Given the description of an element on the screen output the (x, y) to click on. 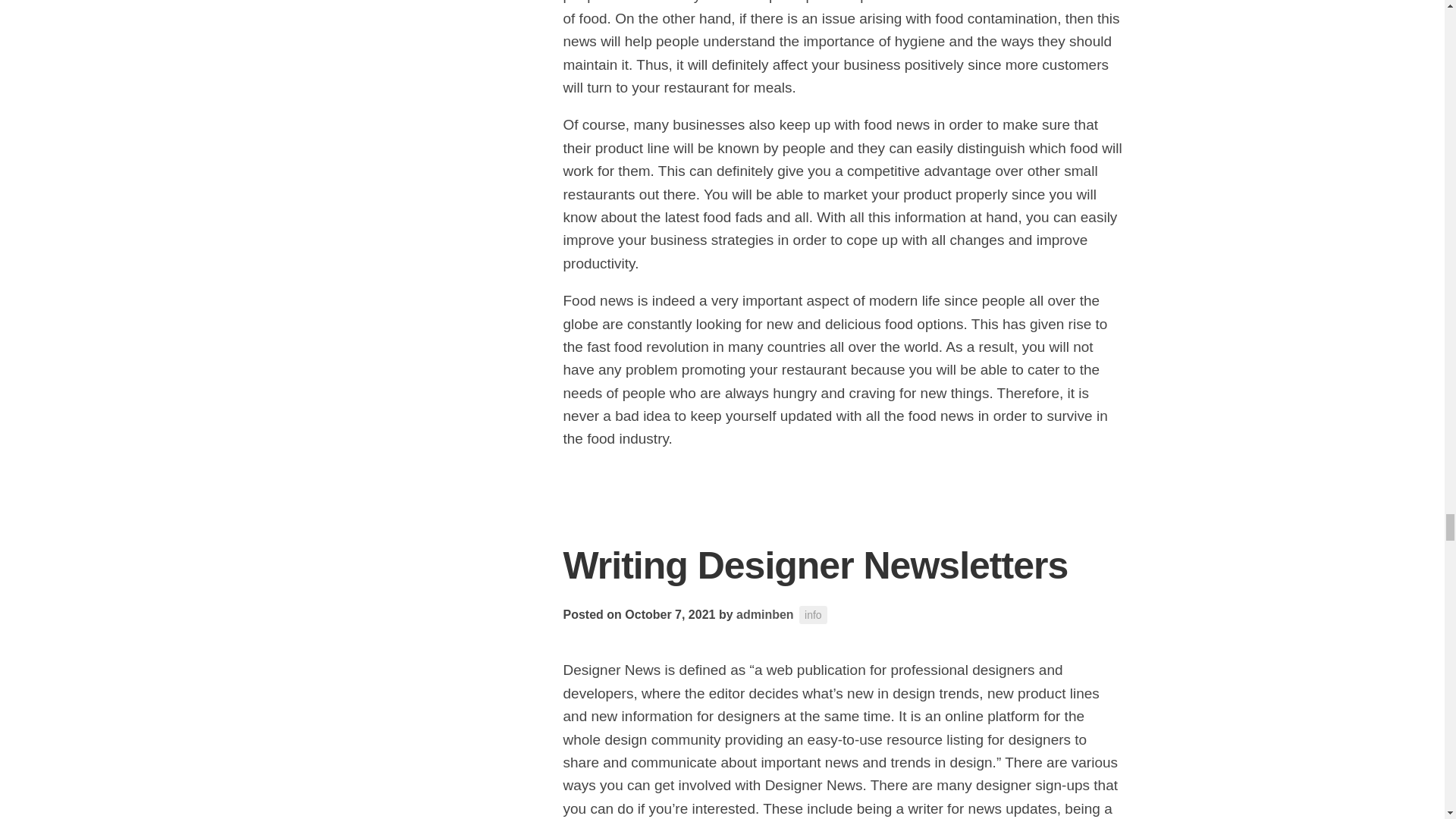
Posts by adminben (764, 614)
